Given the description of an element on the screen output the (x, y) to click on. 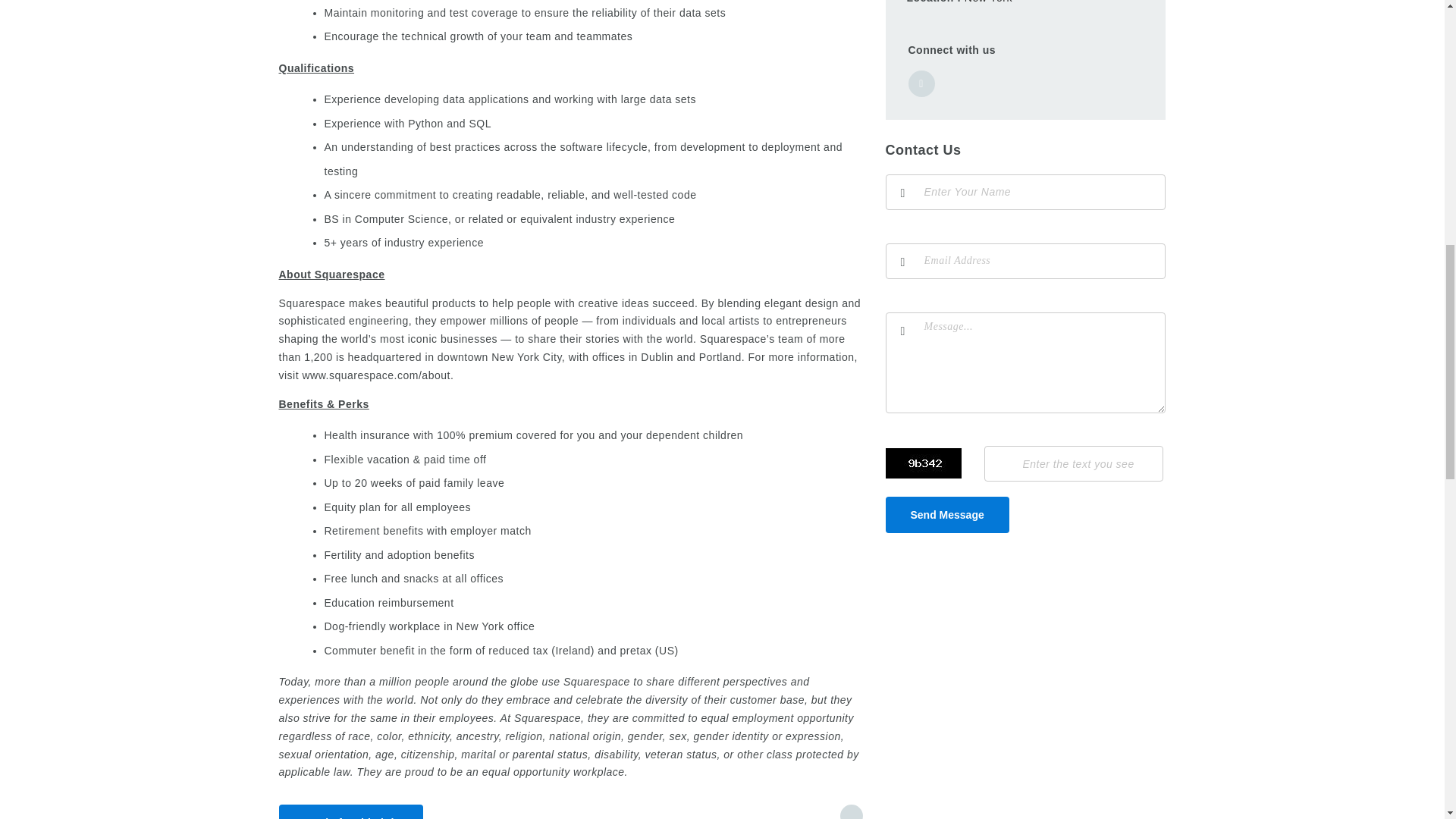
Apply for this job (351, 811)
